Given the description of an element on the screen output the (x, y) to click on. 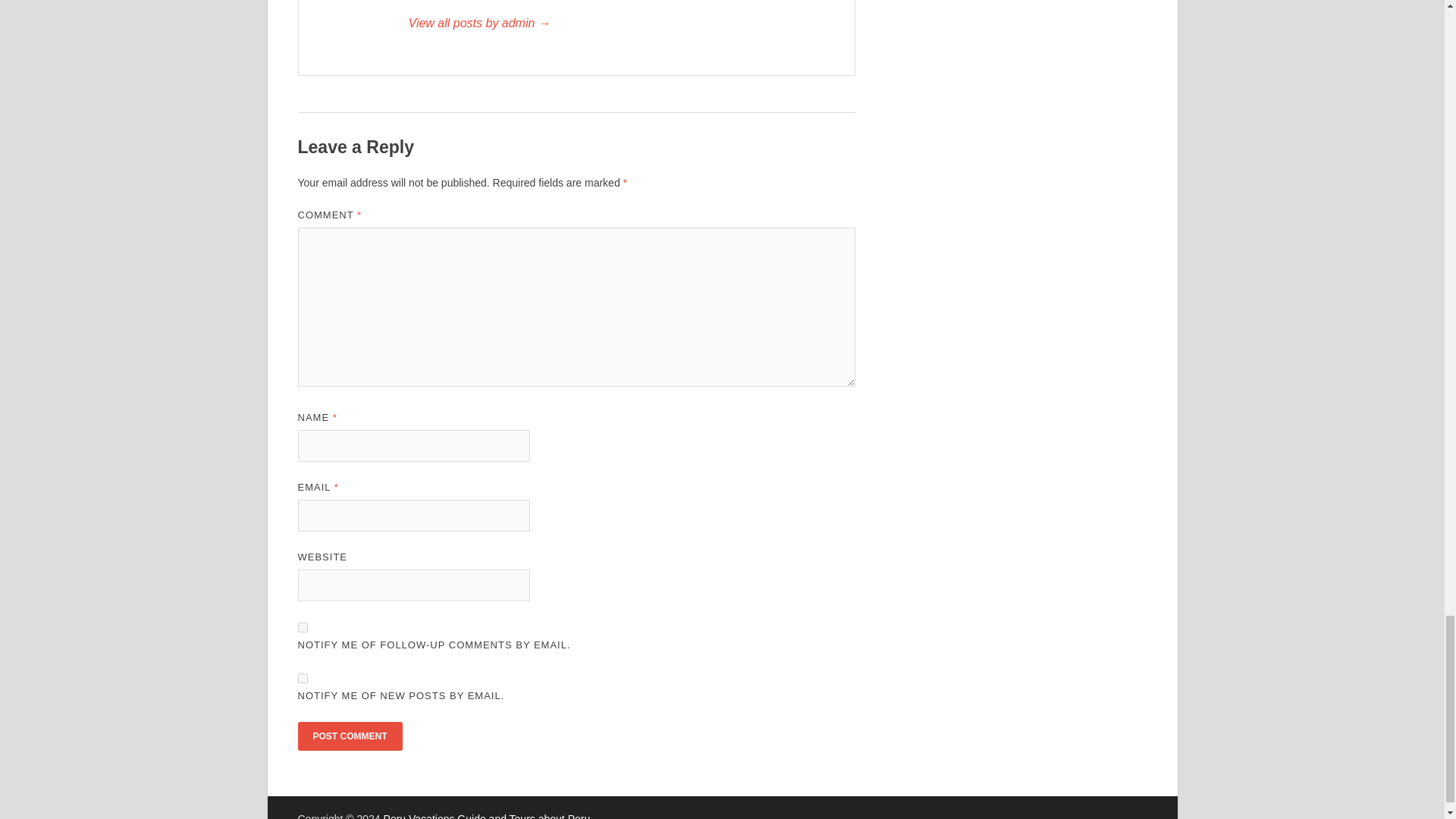
Post Comment (349, 736)
Post Comment (349, 736)
subscribe (302, 678)
admin (622, 23)
subscribe (302, 627)
